Given the description of an element on the screen output the (x, y) to click on. 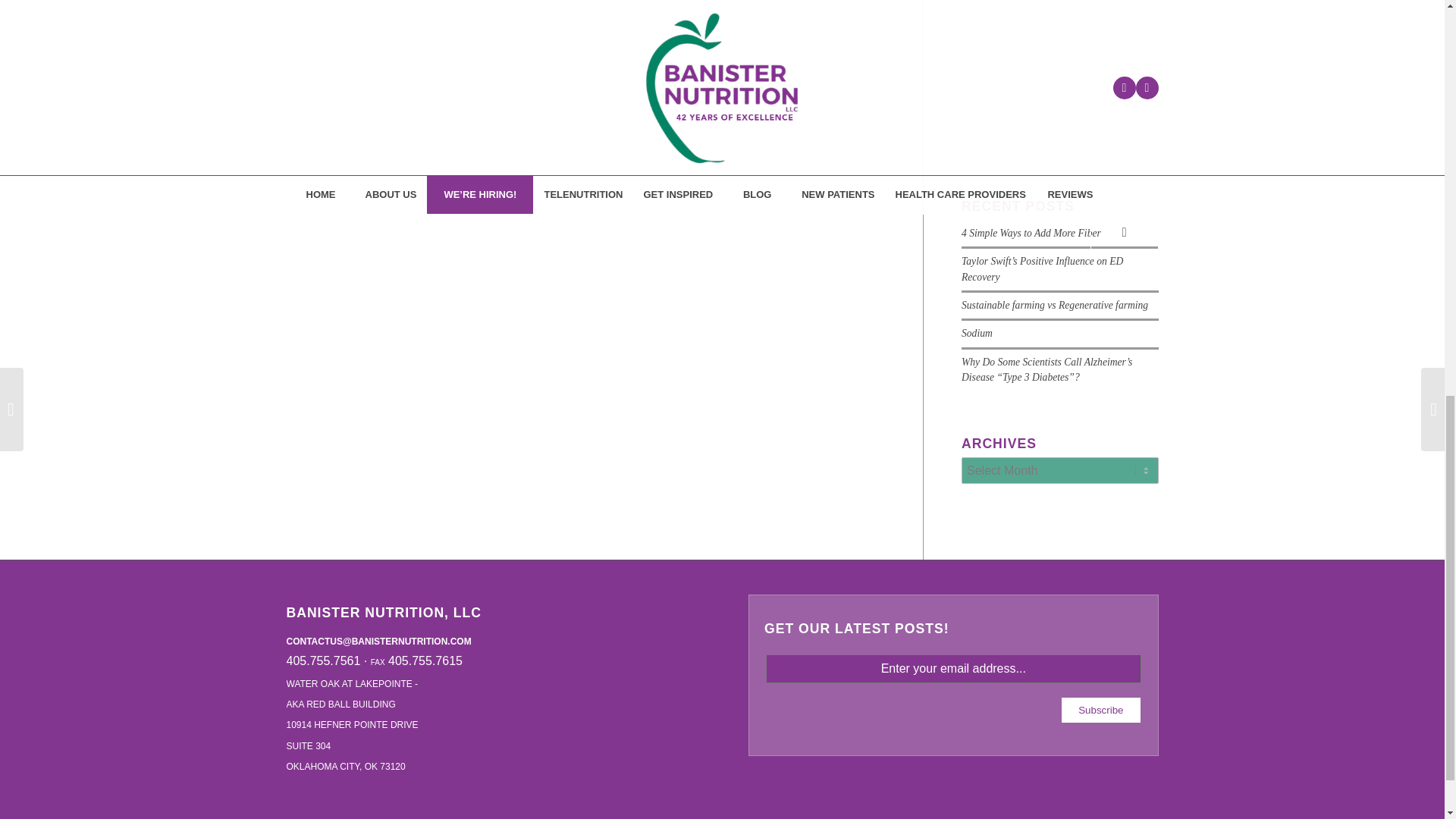
4 Simple Ways to Add More Fiber (1030, 233)
Subscribe (1100, 709)
Sodium (976, 333)
Sustainable farming vs Regenerative farming (1054, 305)
